Given the description of an element on the screen output the (x, y) to click on. 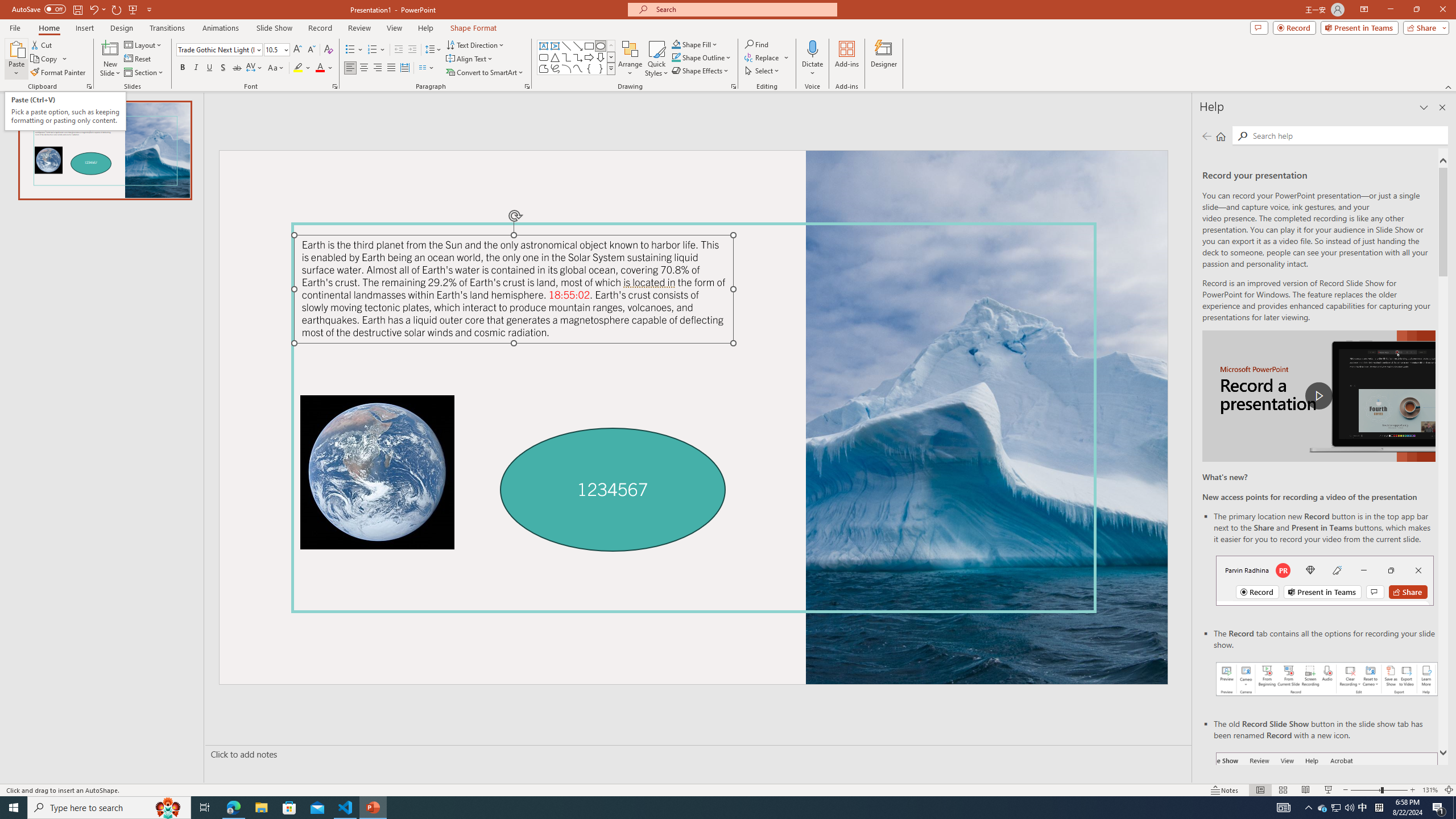
play Record a Presentation (1318, 395)
Previous page (1206, 136)
